Given the description of an element on the screen output the (x, y) to click on. 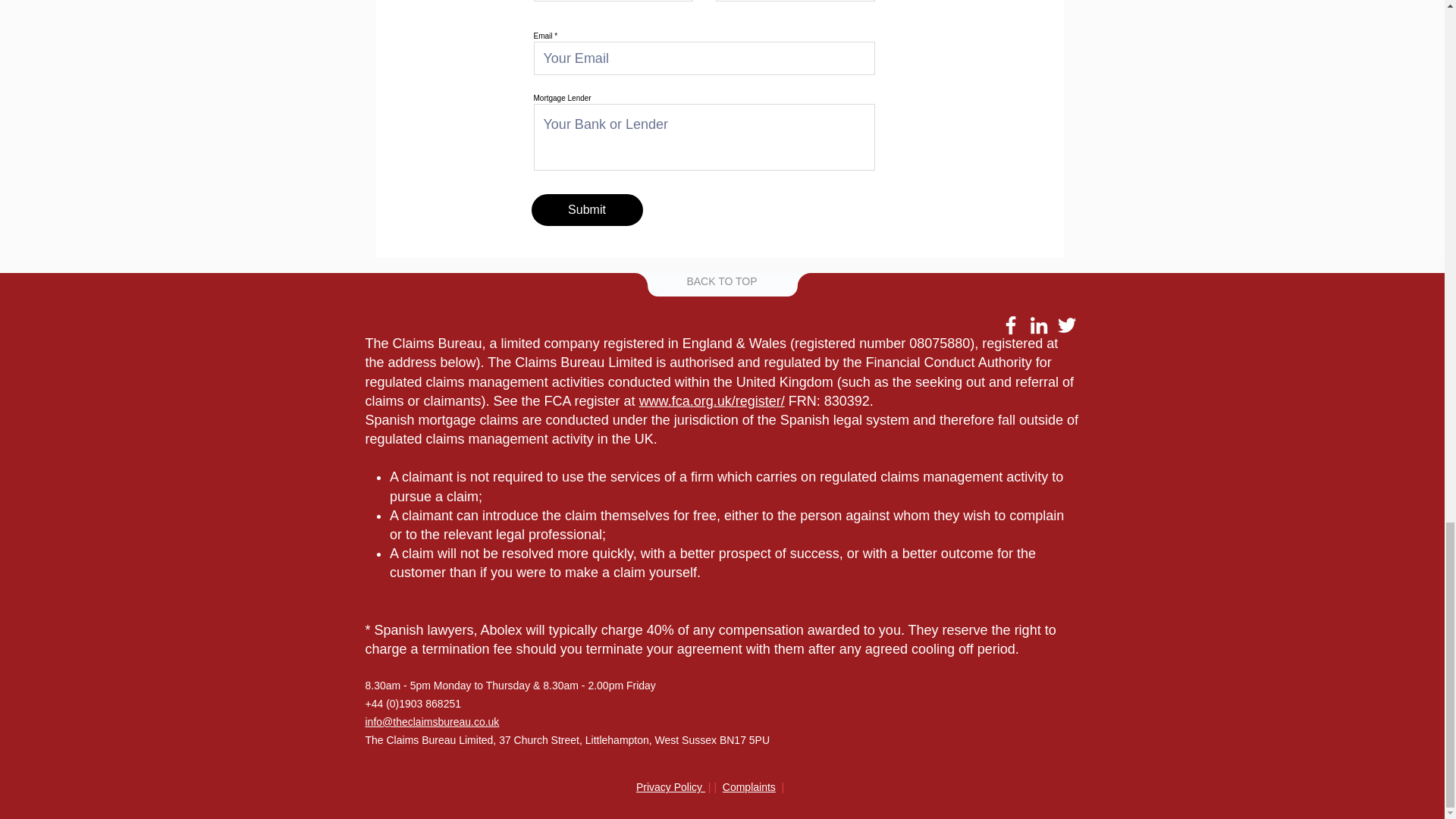
Privacy Policy  (670, 787)
Complaints (749, 787)
Submit (586, 210)
BACK TO TOP (721, 281)
